Given the description of an element on the screen output the (x, y) to click on. 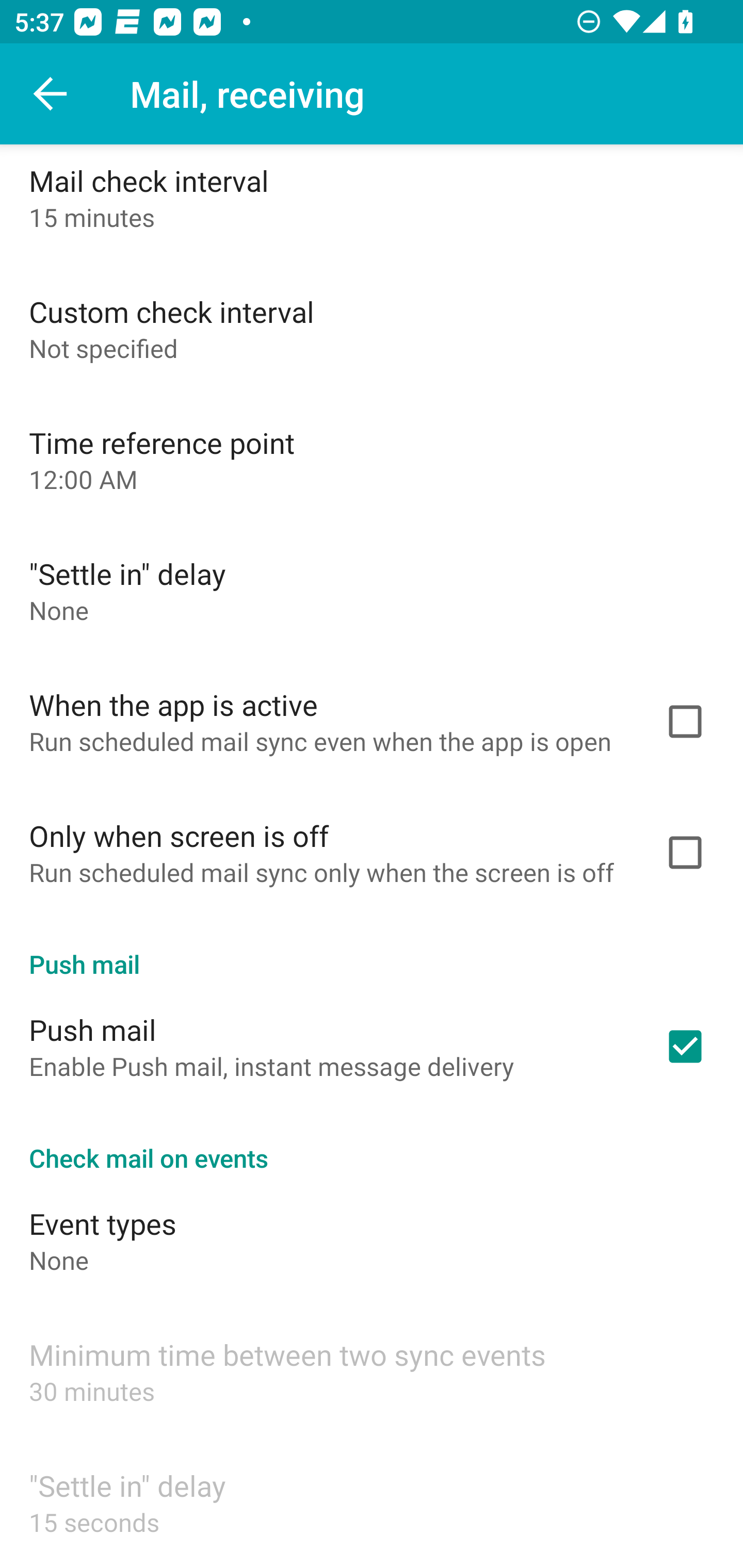
Navigate up (50, 93)
Mail check interval 15 minutes (371, 203)
Custom check interval Not specified (371, 328)
Time reference point 12:00 AM (371, 459)
"Settle in" delay None (371, 590)
Event types None (371, 1240)
Minimum time between two sync events 30 minutes (371, 1371)
"Settle in" delay 15 seconds (371, 1502)
